Given the description of an element on the screen output the (x, y) to click on. 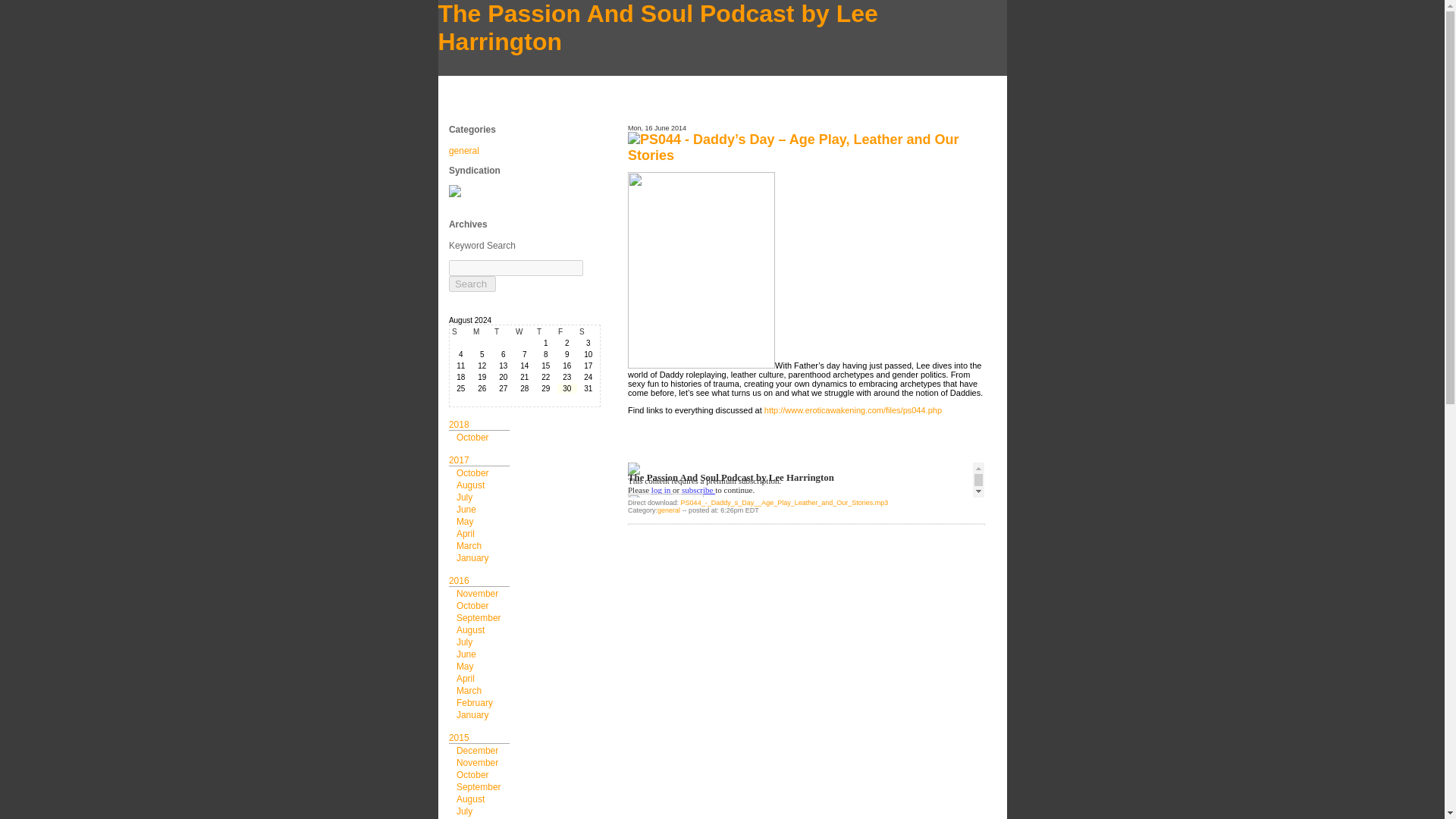
October (473, 605)
2017 (458, 460)
June (466, 654)
Thursday (545, 331)
Search  (472, 283)
March (469, 545)
February (475, 702)
November (477, 593)
January (473, 557)
Tuesday (503, 331)
